Given the description of an element on the screen output the (x, y) to click on. 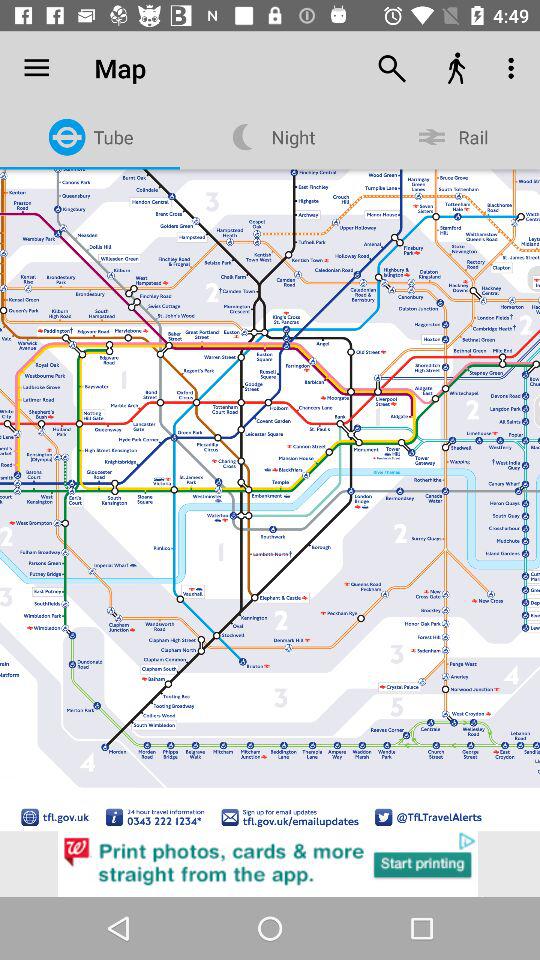
select to bookmark (26, 89)
